Given the description of an element on the screen output the (x, y) to click on. 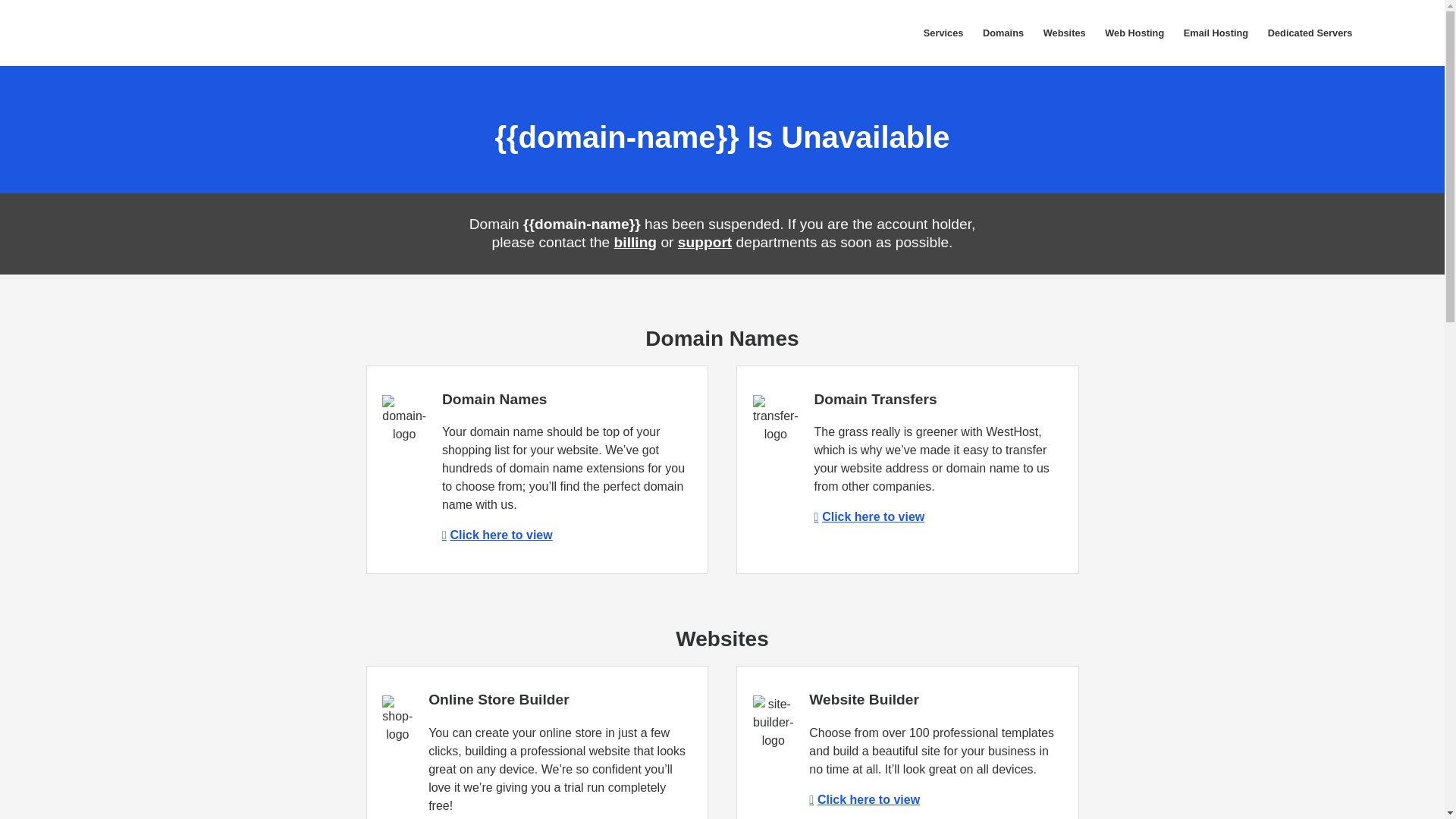
Email Hosting (1215, 32)
support (705, 242)
Services (943, 32)
Websites (1064, 32)
Dedicated Servers (1309, 32)
Click here to view (864, 799)
billing (636, 242)
Domains (1002, 32)
Click here to view (497, 534)
Web Hosting (1133, 32)
Click here to view (868, 516)
